Given the description of an element on the screen output the (x, y) to click on. 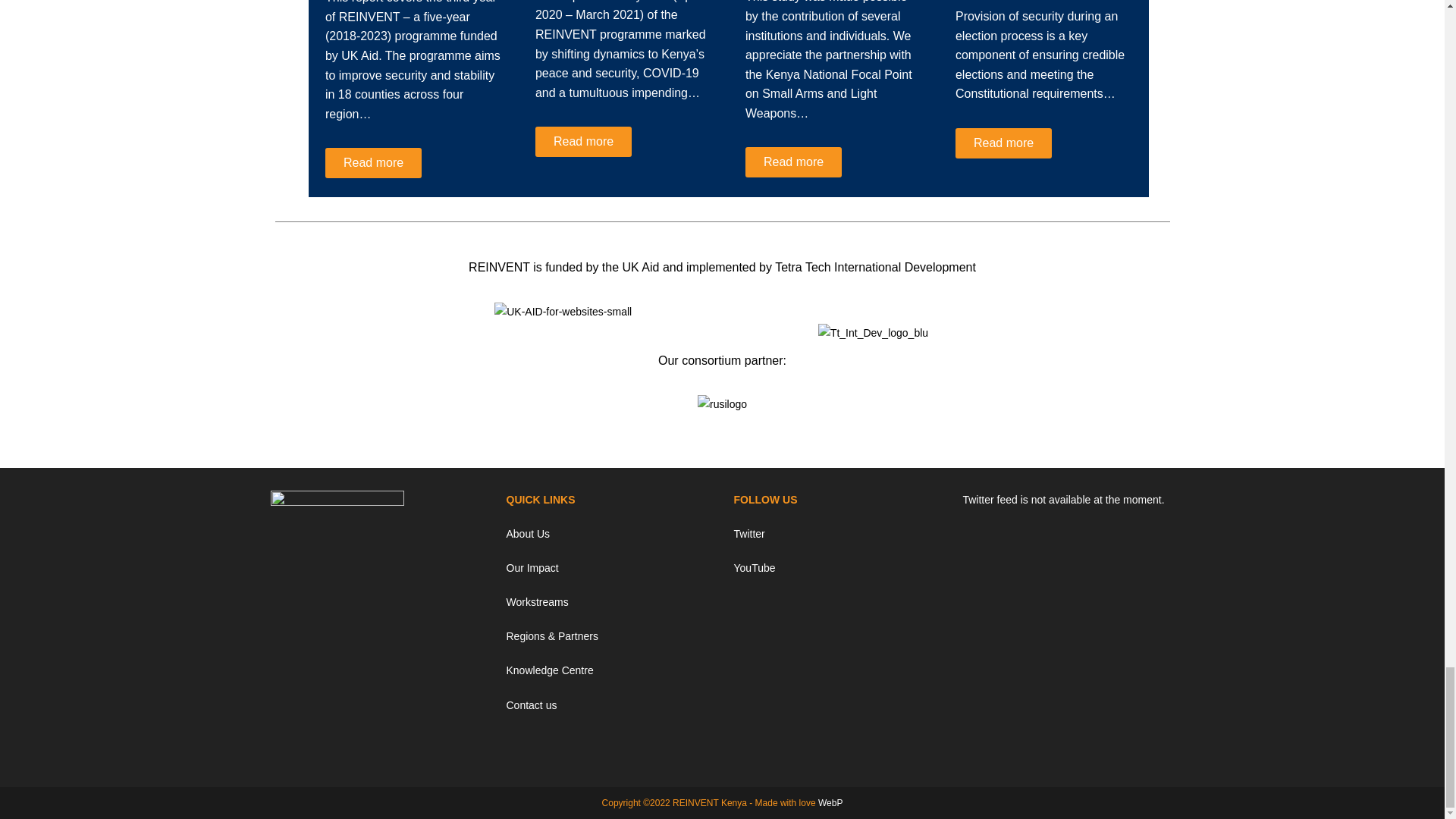
webpinn (830, 802)
rusilogo (721, 404)
UK-AID-for-websites-small (563, 311)
